Given the description of an element on the screen output the (x, y) to click on. 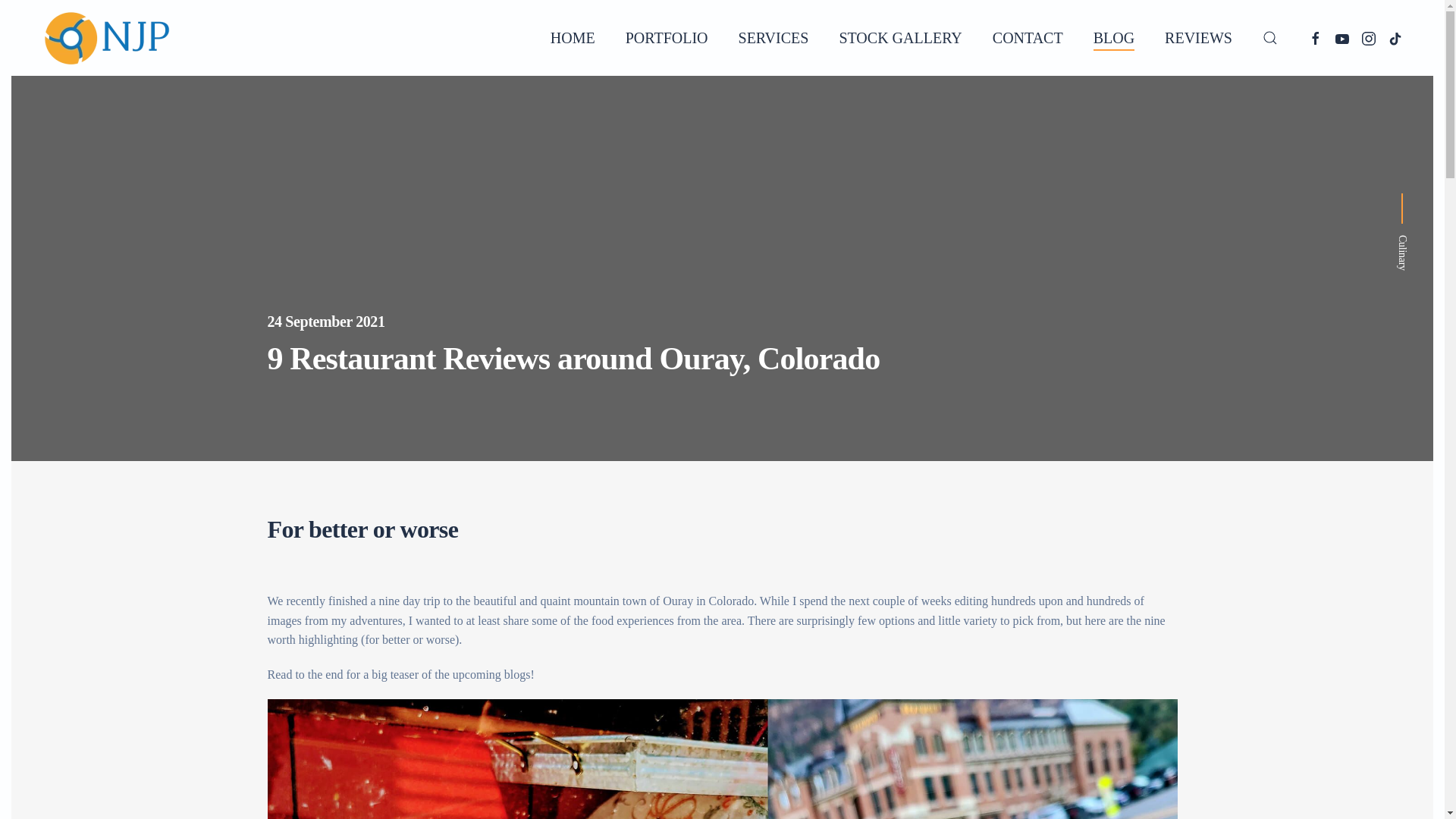
24 September 2021 (721, 321)
PORTFOLIO (666, 37)
9 Restaurant Reviews around Ouray, Colorado (721, 358)
For better or worse (721, 530)
CONTACT (1027, 37)
STOCK GALLERY (899, 37)
REVIEWS (1197, 37)
SERVICES (773, 37)
